Given the description of an element on the screen output the (x, y) to click on. 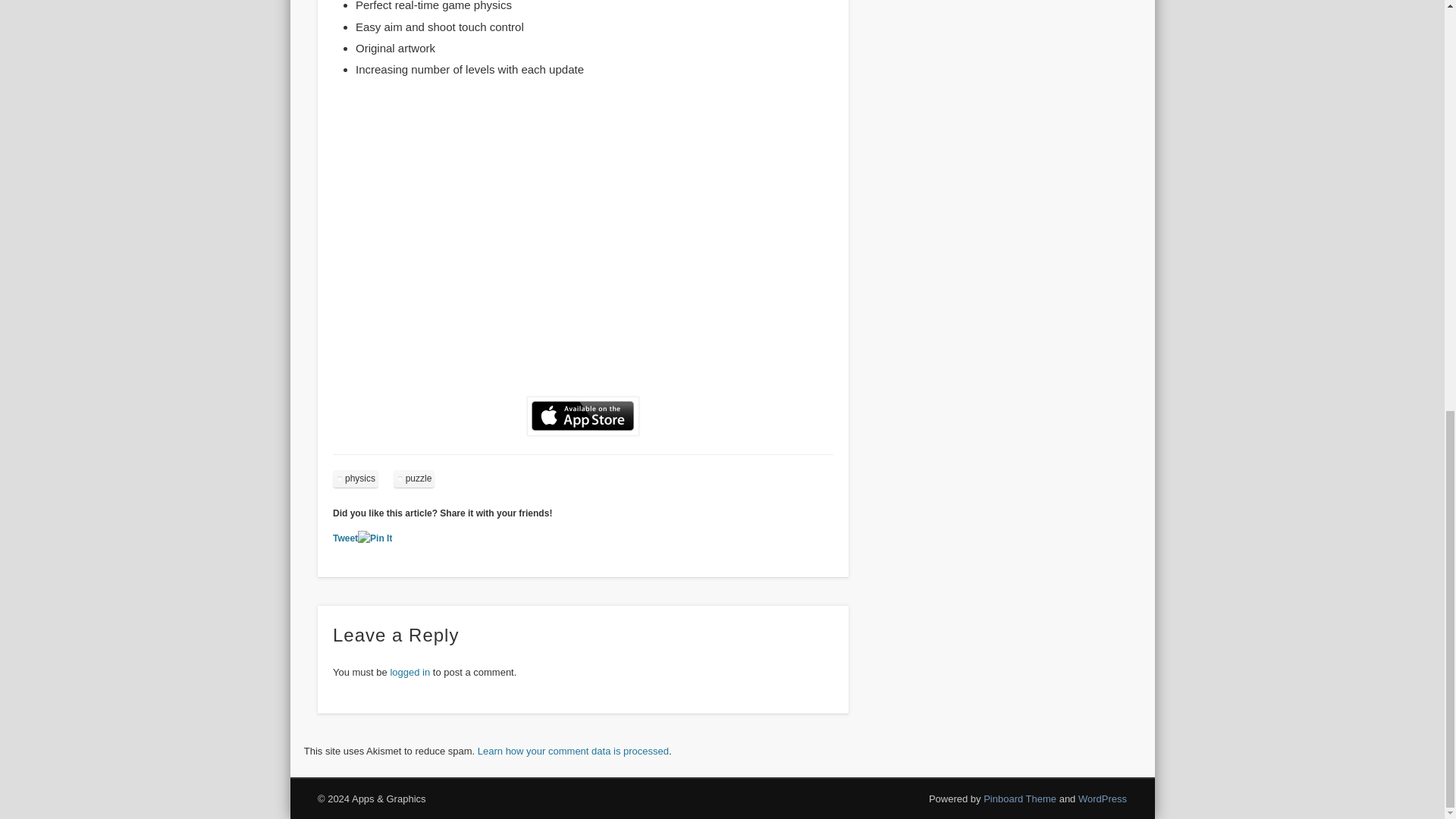
Pinboard Theme (1020, 798)
Tweet (345, 538)
Pinboard Theme (1020, 798)
physics (355, 478)
puzzle (414, 478)
Learn how your comment data is processed (572, 750)
Pin It (374, 538)
logged in (409, 672)
WordPress (1102, 798)
AppStoreBadge (583, 415)
